Given the description of an element on the screen output the (x, y) to click on. 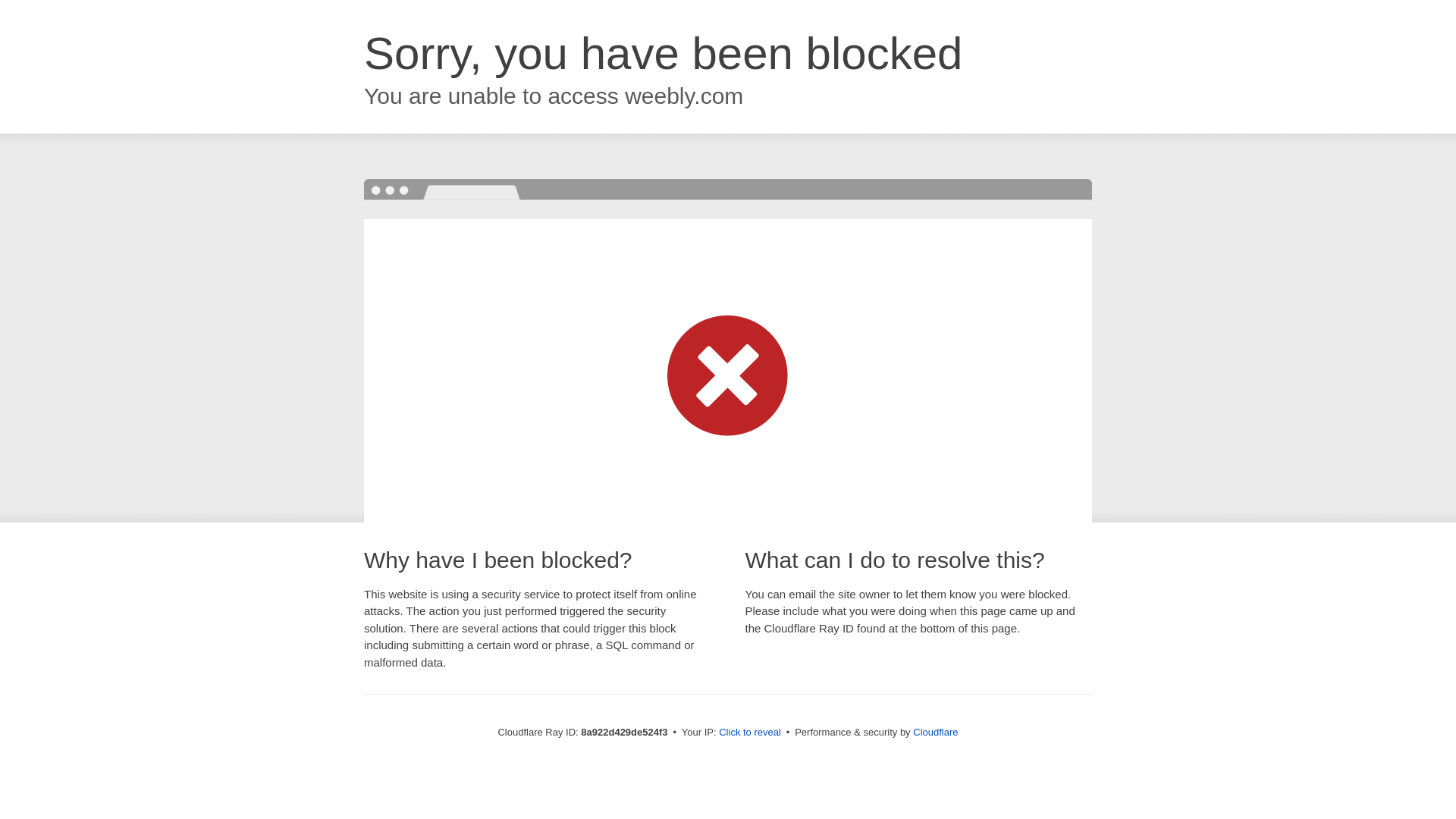
Cloudflare (935, 731)
Click to reveal (749, 732)
